Given the description of an element on the screen output the (x, y) to click on. 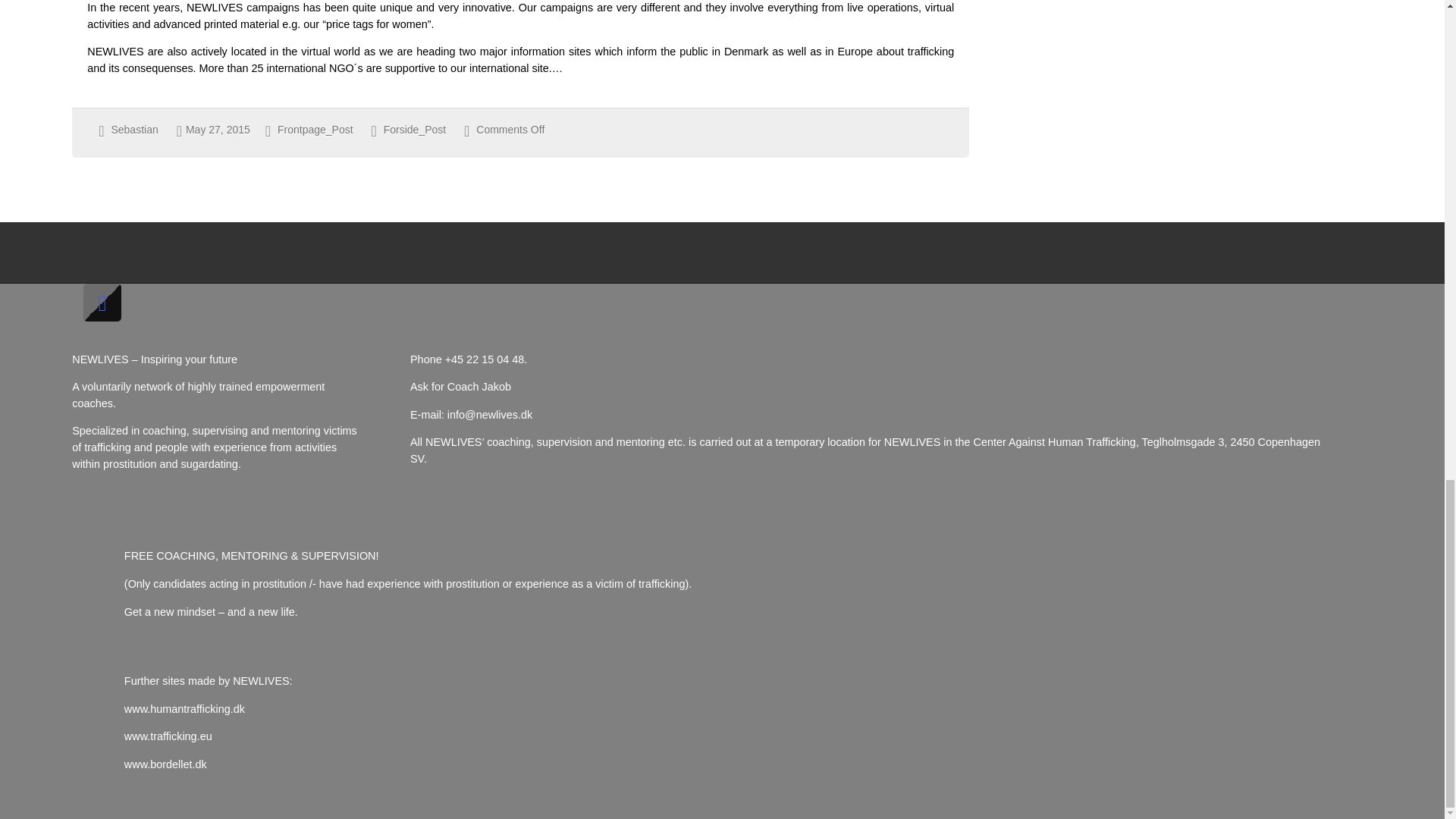
Posts by Sebastian (133, 129)
